Given the description of an element on the screen output the (x, y) to click on. 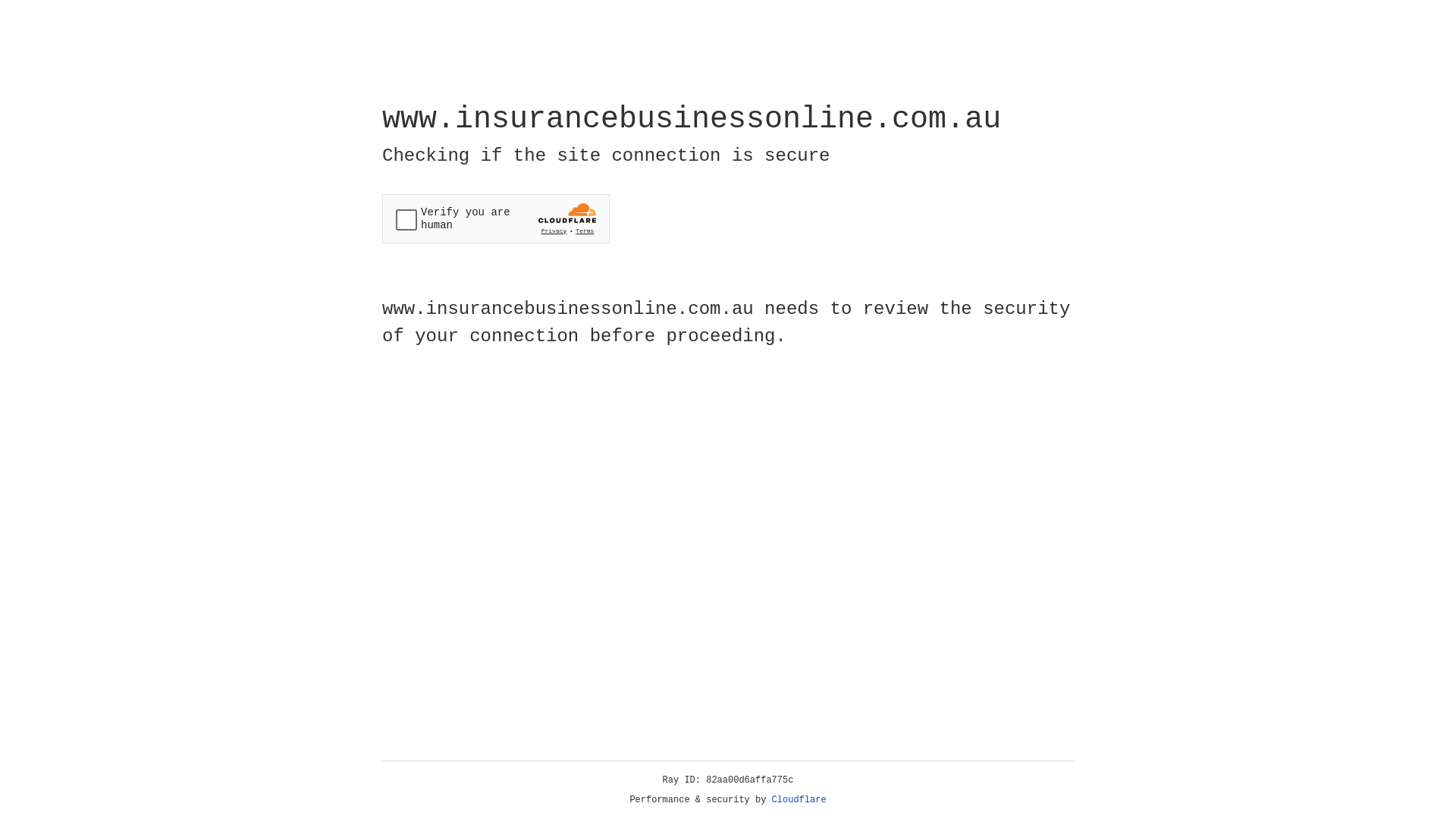
Widget containing a Cloudflare security challenge Element type: hover (495, 218)
Cloudflare Element type: text (798, 799)
